Given the description of an element on the screen output the (x, y) to click on. 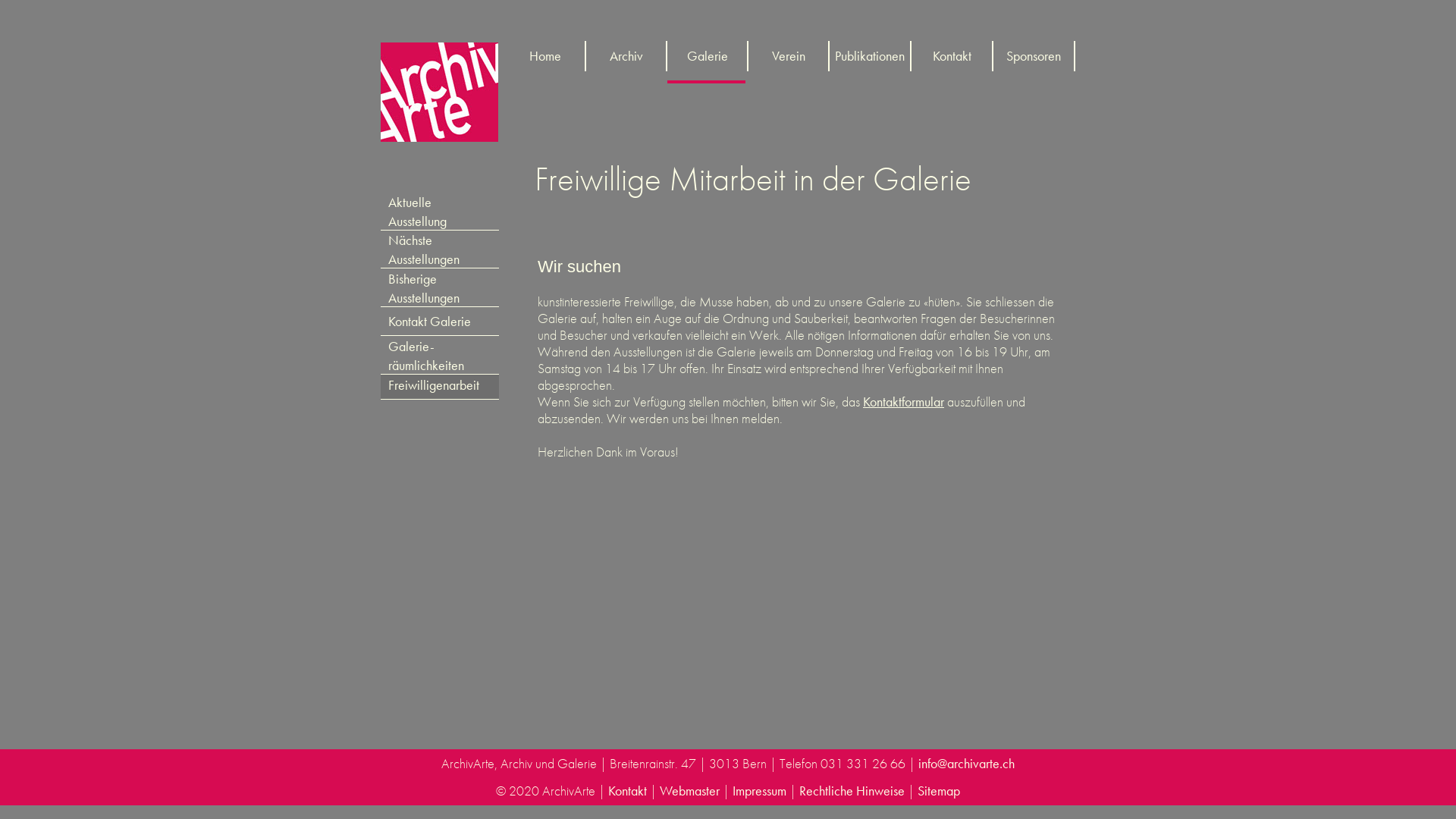
Kontaktformular Element type: text (903, 401)
info@archivarte.ch Element type: text (966, 762)
Home Element type: text (546, 55)
Archiv Element type: text (627, 55)
Sponsoren Element type: text (1034, 55)
Webmaster Element type: text (689, 790)
Bisherige
Ausstellungen Element type: text (439, 287)
Freiwilligenarbeit Element type: text (439, 386)
Verein Element type: text (789, 55)
Rechtliche Hinweise Element type: text (851, 790)
Publikationen Element type: text (871, 55)
Galerie Element type: text (708, 55)
Impressum Element type: text (759, 790)
Kontakt Galerie Element type: text (439, 322)
Aktuelle
Ausstellung Element type: text (439, 210)
Sitemap Element type: text (938, 790)
Kontakt Element type: text (627, 790)
Kontakt Element type: text (953, 55)
